Given the description of an element on the screen output the (x, y) to click on. 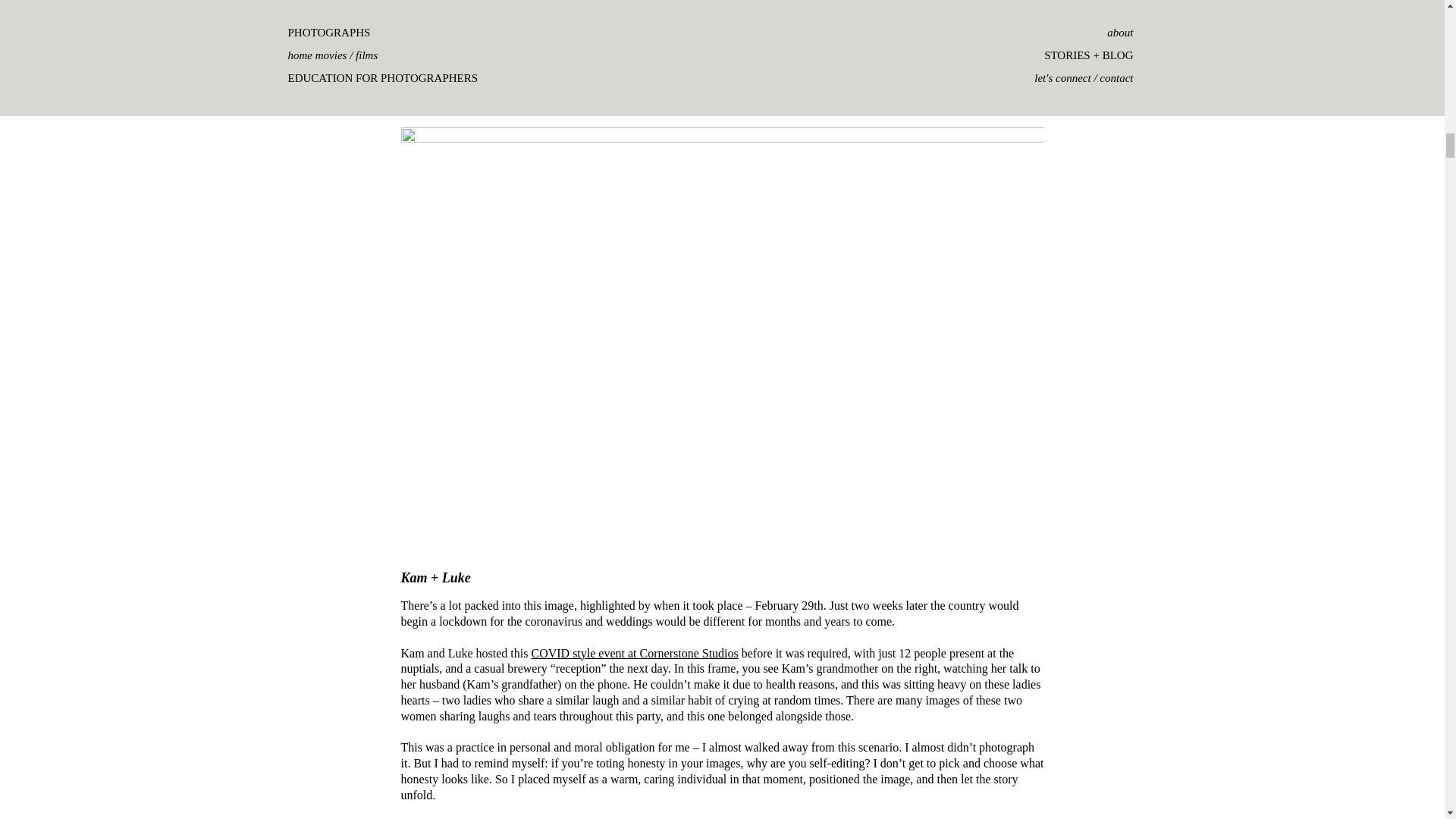
COVID style event at Cornerstone Studios (634, 652)
